Given the description of an element on the screen output the (x, y) to click on. 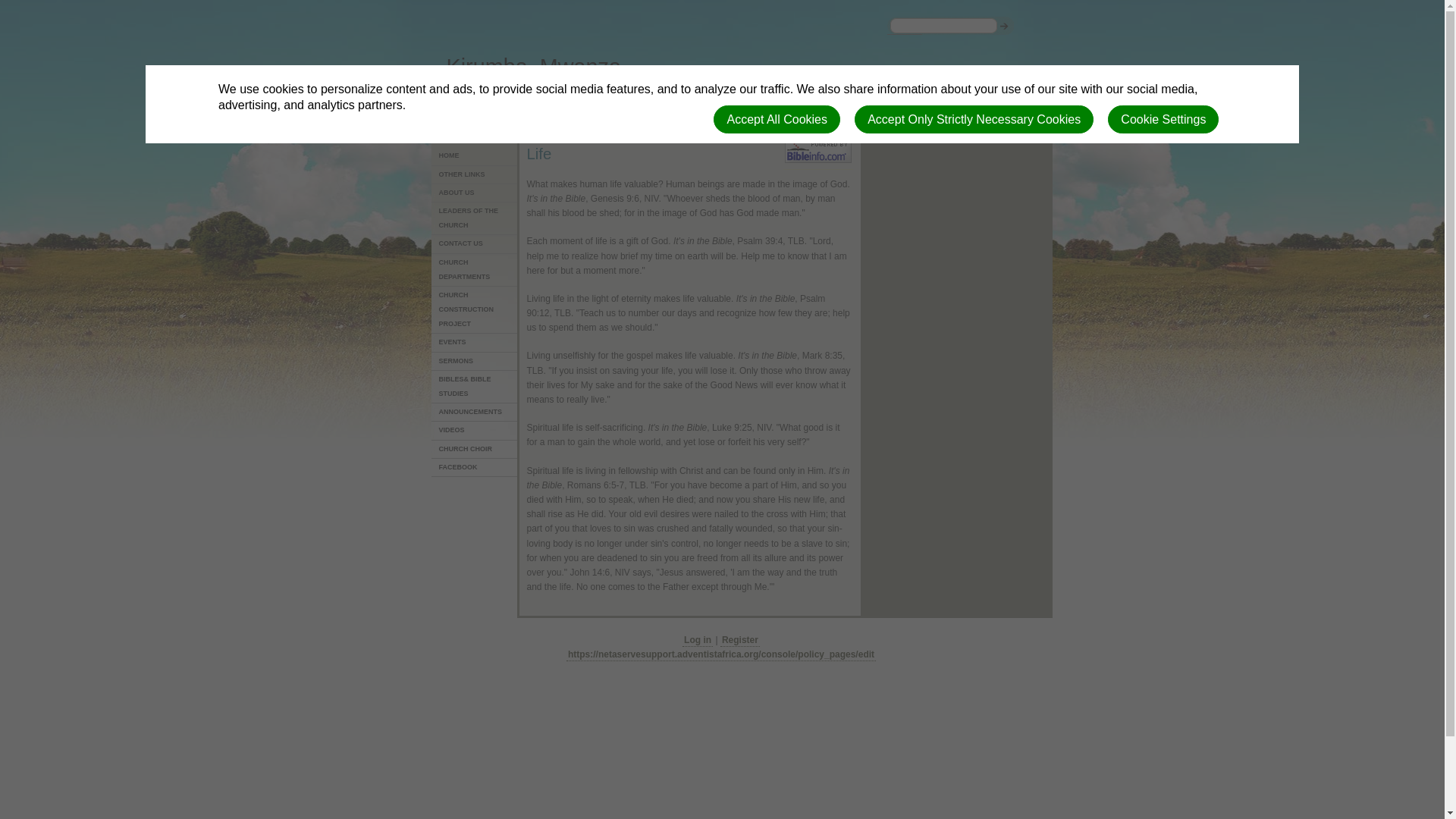
LEADERS OF THE CHURCH (474, 218)
CHURCH CONSTRUCTION PROJECT (474, 310)
FACEBOOK (474, 467)
SERMONS (474, 361)
CONTACT US (474, 244)
Accept Only Strictly Necessary Cookies (973, 119)
CHURCH CHOIR (474, 449)
OTHER LINKS (474, 175)
Search (903, 42)
